Given the description of an element on the screen output the (x, y) to click on. 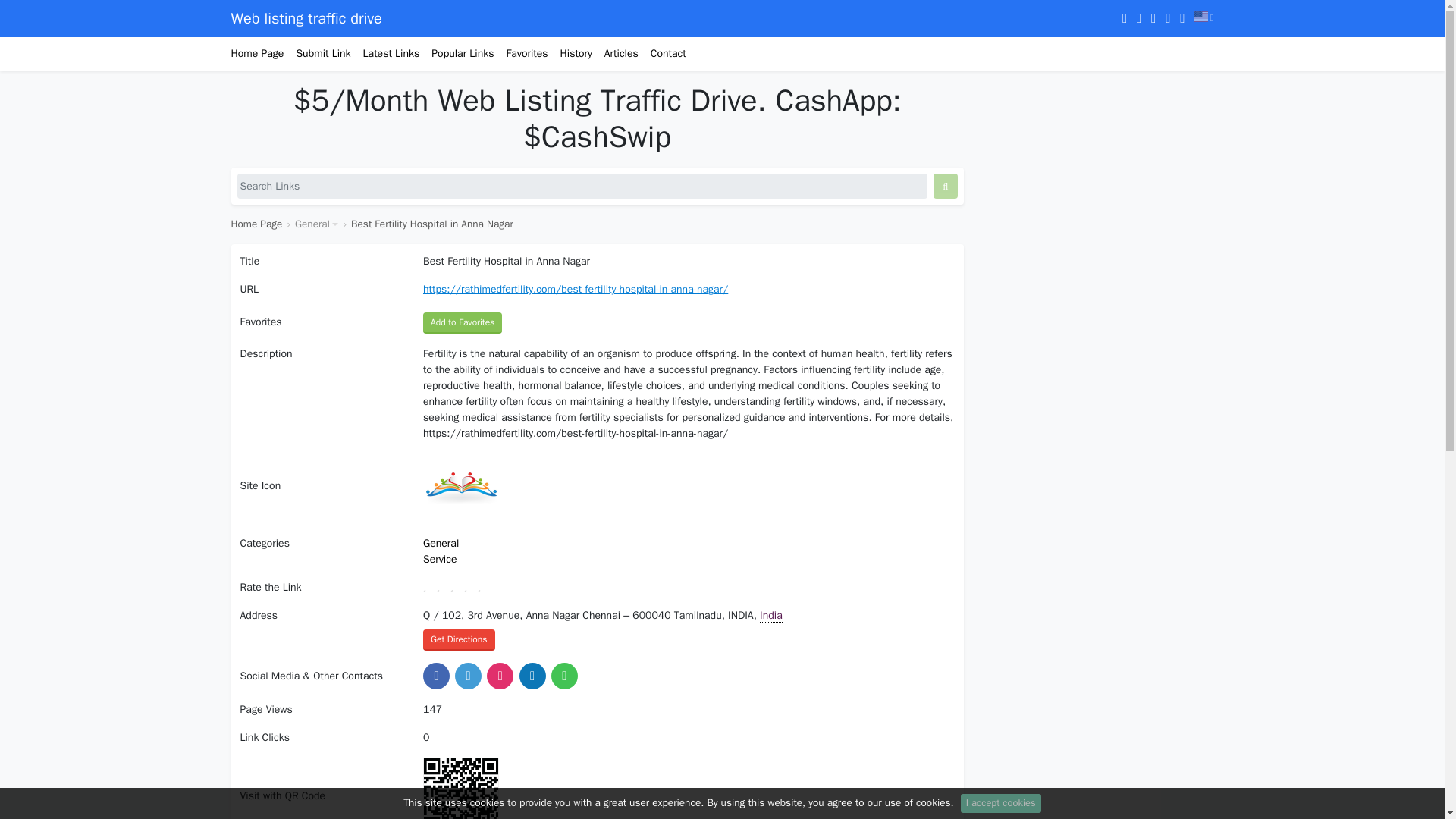
General (316, 224)
Web listing traffic drive (305, 18)
India (771, 615)
Contact (662, 53)
Get Directions (459, 639)
Popular Links (456, 53)
4 (470, 584)
Add to Favorites (462, 322)
Articles (615, 53)
Favorites (520, 53)
Submit Link (316, 53)
3 (456, 584)
General (440, 543)
5 (484, 584)
Service (440, 558)
